Given the description of an element on the screen output the (x, y) to click on. 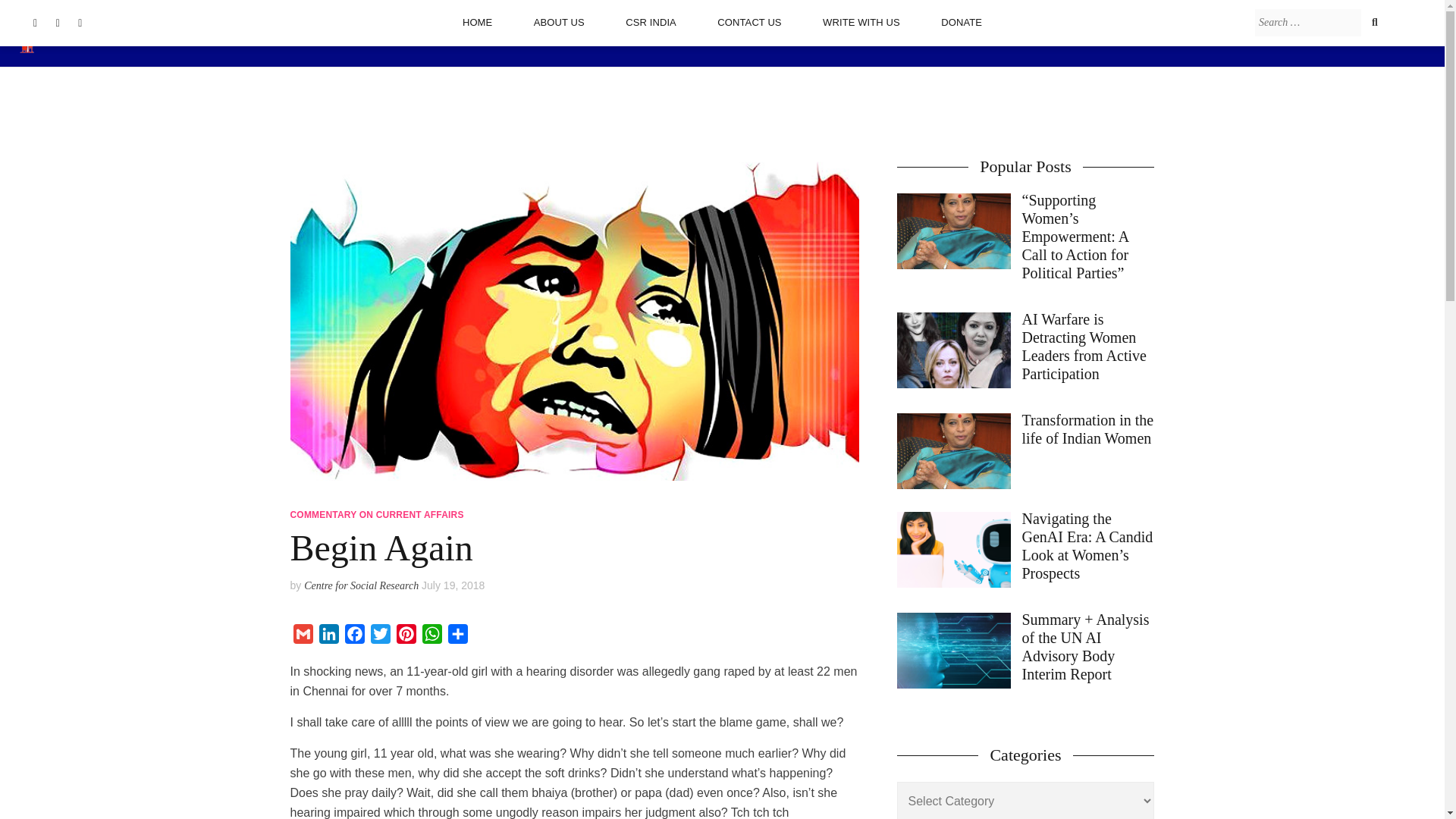
Twitter (379, 637)
LinkedIn (327, 637)
CONTACT US (748, 22)
WhatsApp (431, 637)
COMMENTARY ON CURRENT AFFAIRS (376, 514)
Pinterest (406, 637)
Contact Us (748, 22)
Facebook (353, 637)
Facebook (353, 637)
CSR INDIA (651, 22)
HOME (477, 22)
Pinterest (406, 637)
Csr India (651, 22)
Write With Us (860, 22)
